Given the description of an element on the screen output the (x, y) to click on. 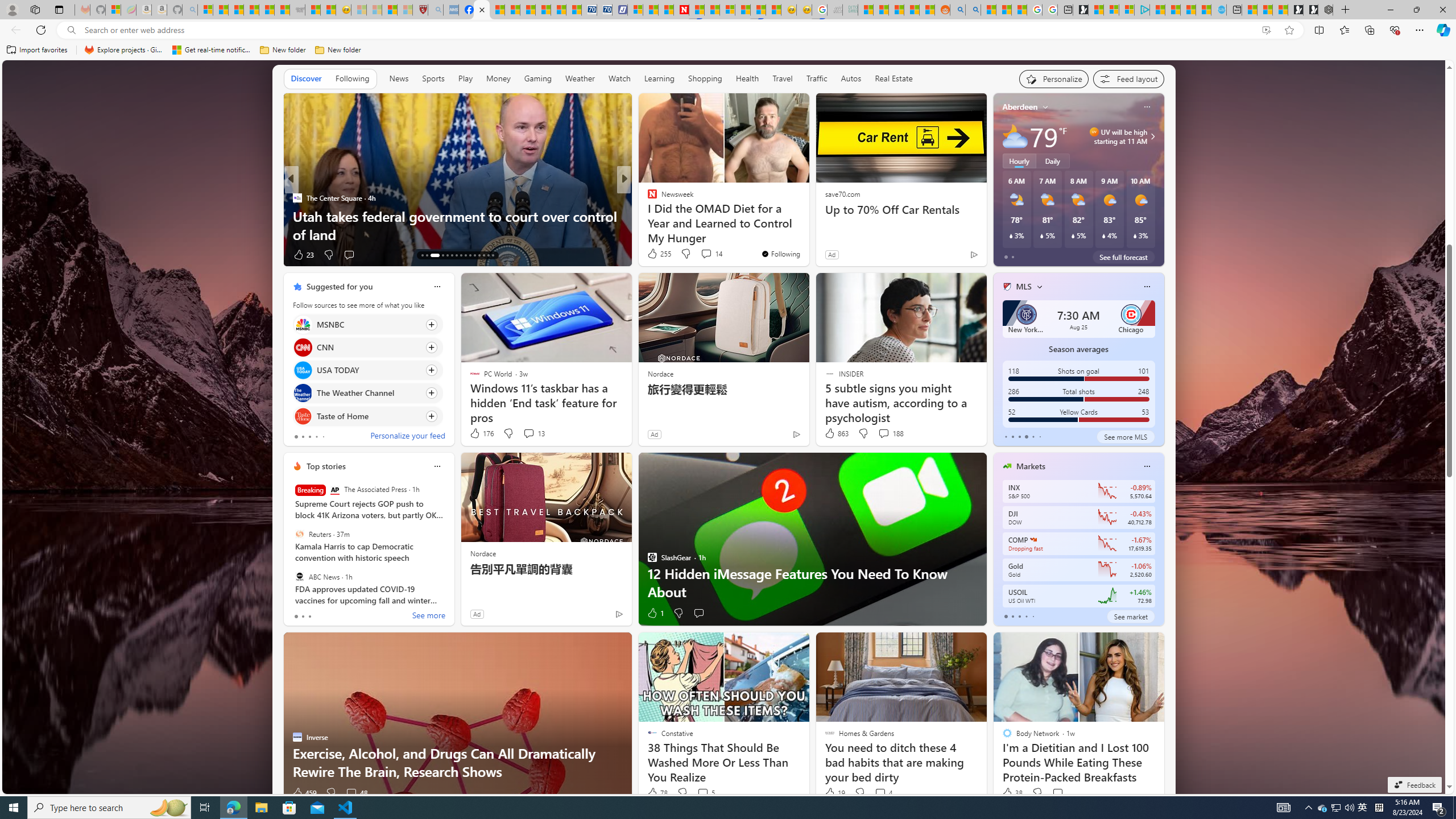
Search icon (70, 29)
AutomationID: tab-78 (483, 255)
459 Like (303, 792)
New York City 7:30 AM Aug 25 Chicago (1077, 318)
AutomationID: tab-77 (478, 255)
